Given the description of an element on the screen output the (x, y) to click on. 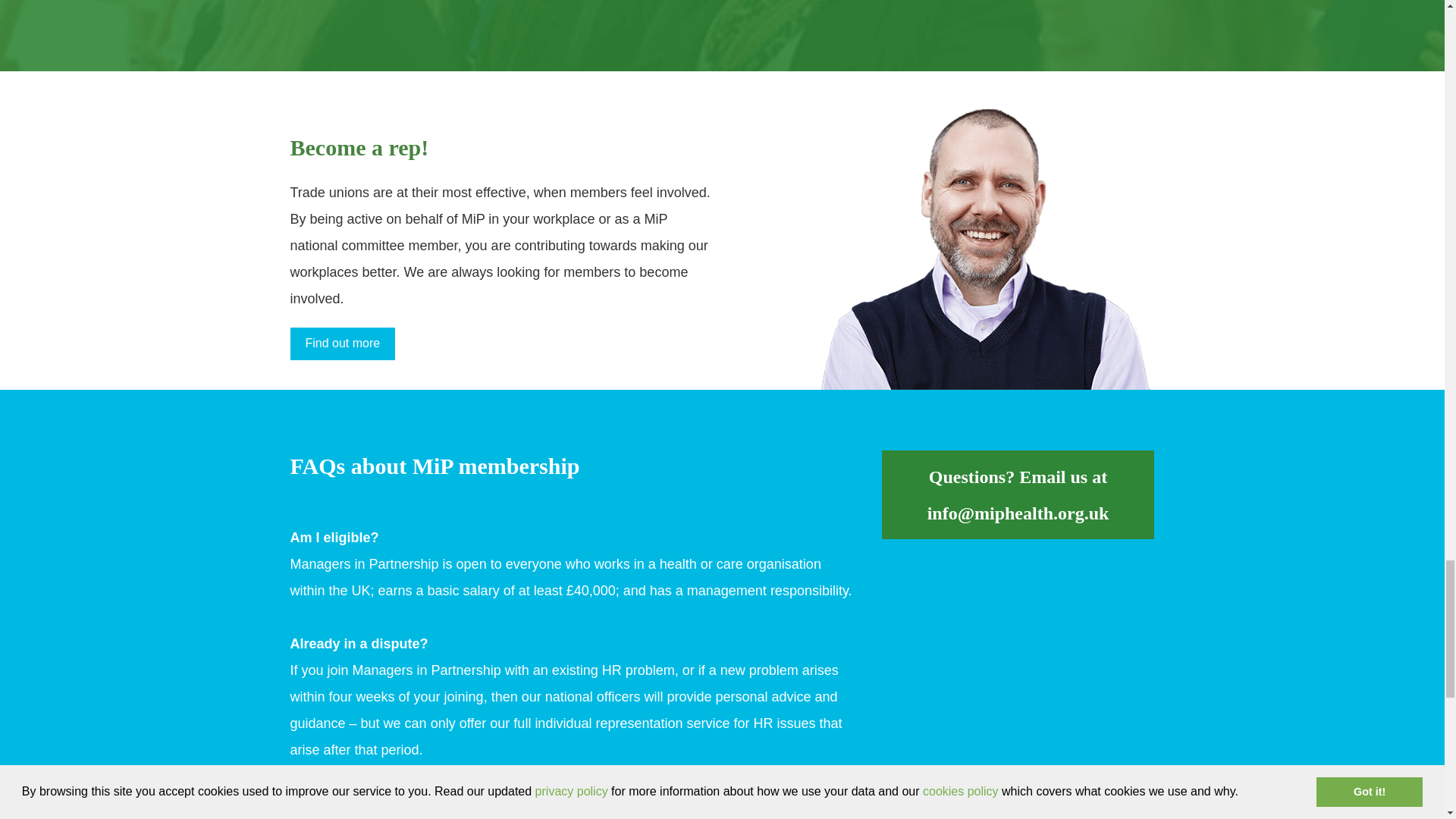
KS-Banner-PH4 (985, 248)
